Given the description of an element on the screen output the (x, y) to click on. 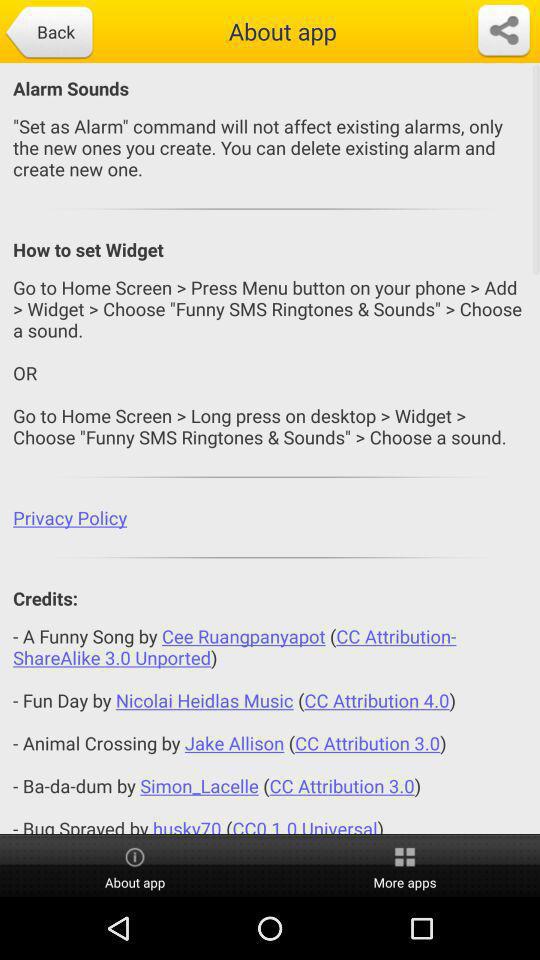
tap the icon next to about app icon (405, 866)
